Given the description of an element on the screen output the (x, y) to click on. 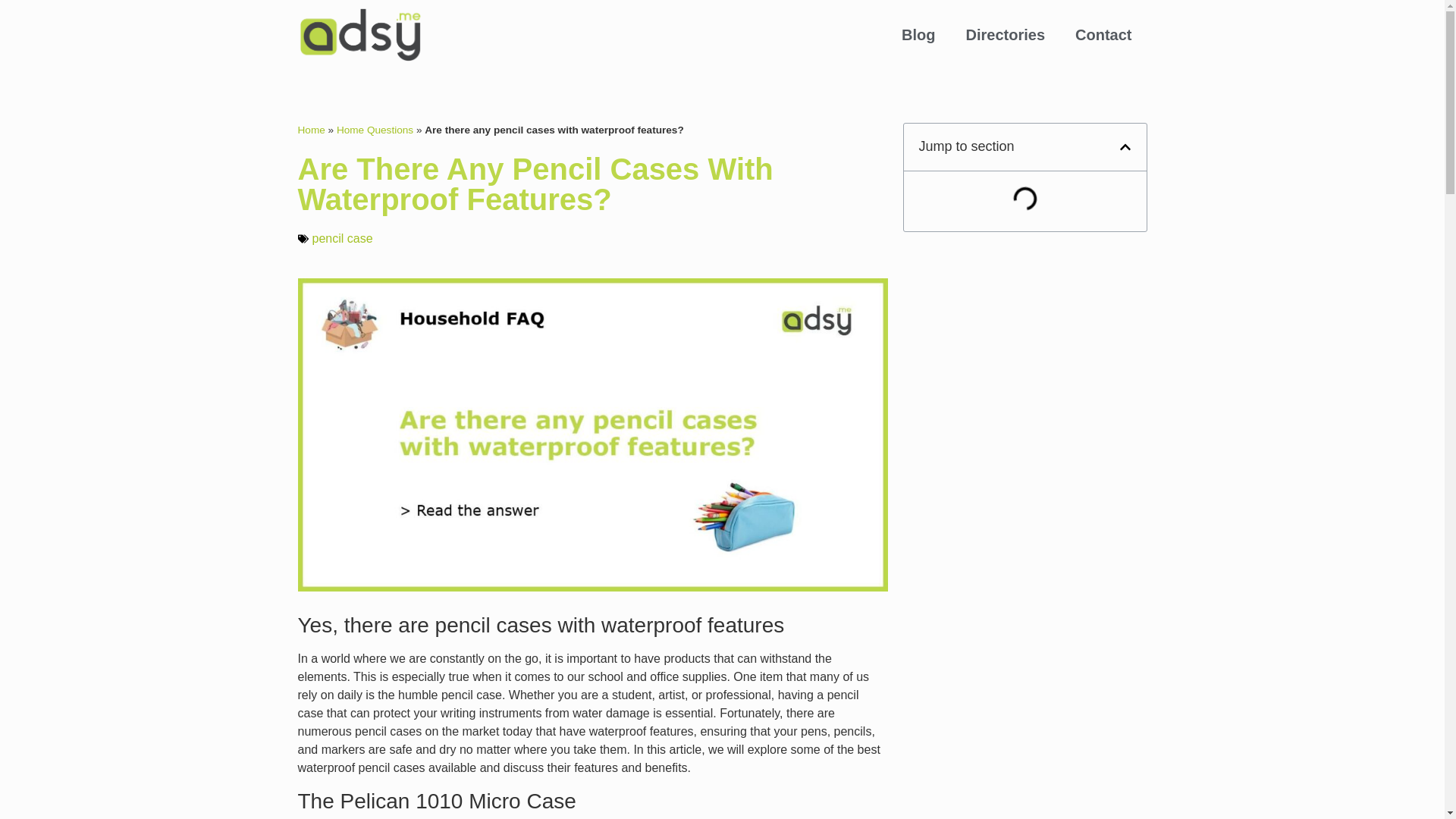
Blog (918, 34)
Directories (1005, 34)
Contact (1103, 34)
